Given the description of an element on the screen output the (x, y) to click on. 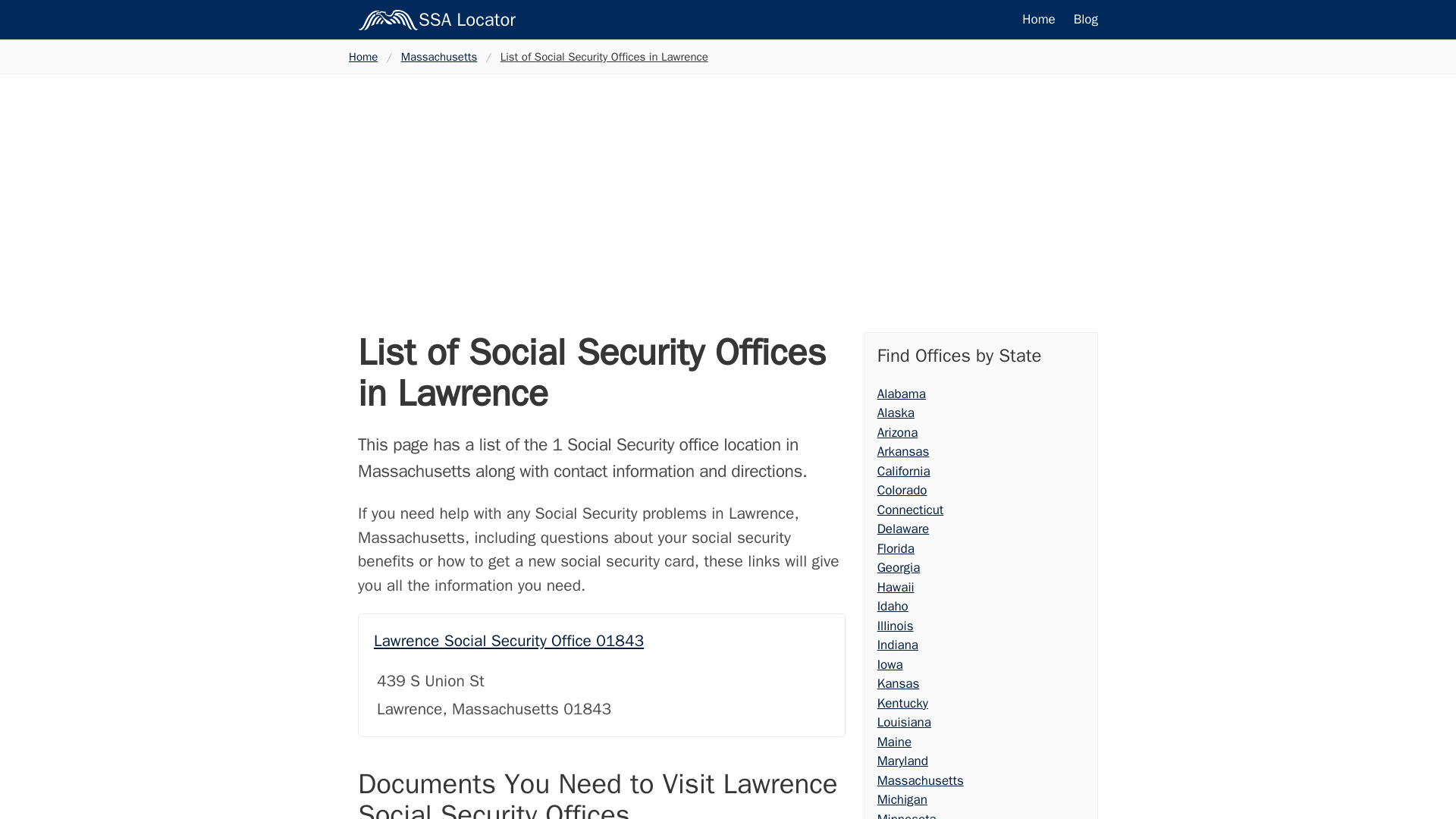
Home (368, 57)
Alabama (901, 392)
List of Social Security Offices in Lawrence (604, 57)
Maryland (902, 760)
Arkansas (903, 451)
Delaware (903, 528)
Michigan (902, 799)
Alaska (895, 412)
Indiana (897, 644)
Massachusetts (437, 57)
Minnesota (906, 815)
Colorado (902, 489)
Louisiana (904, 722)
Georgia (898, 567)
Lawrence Social Security Office 01843 (508, 640)
